Given the description of an element on the screen output the (x, y) to click on. 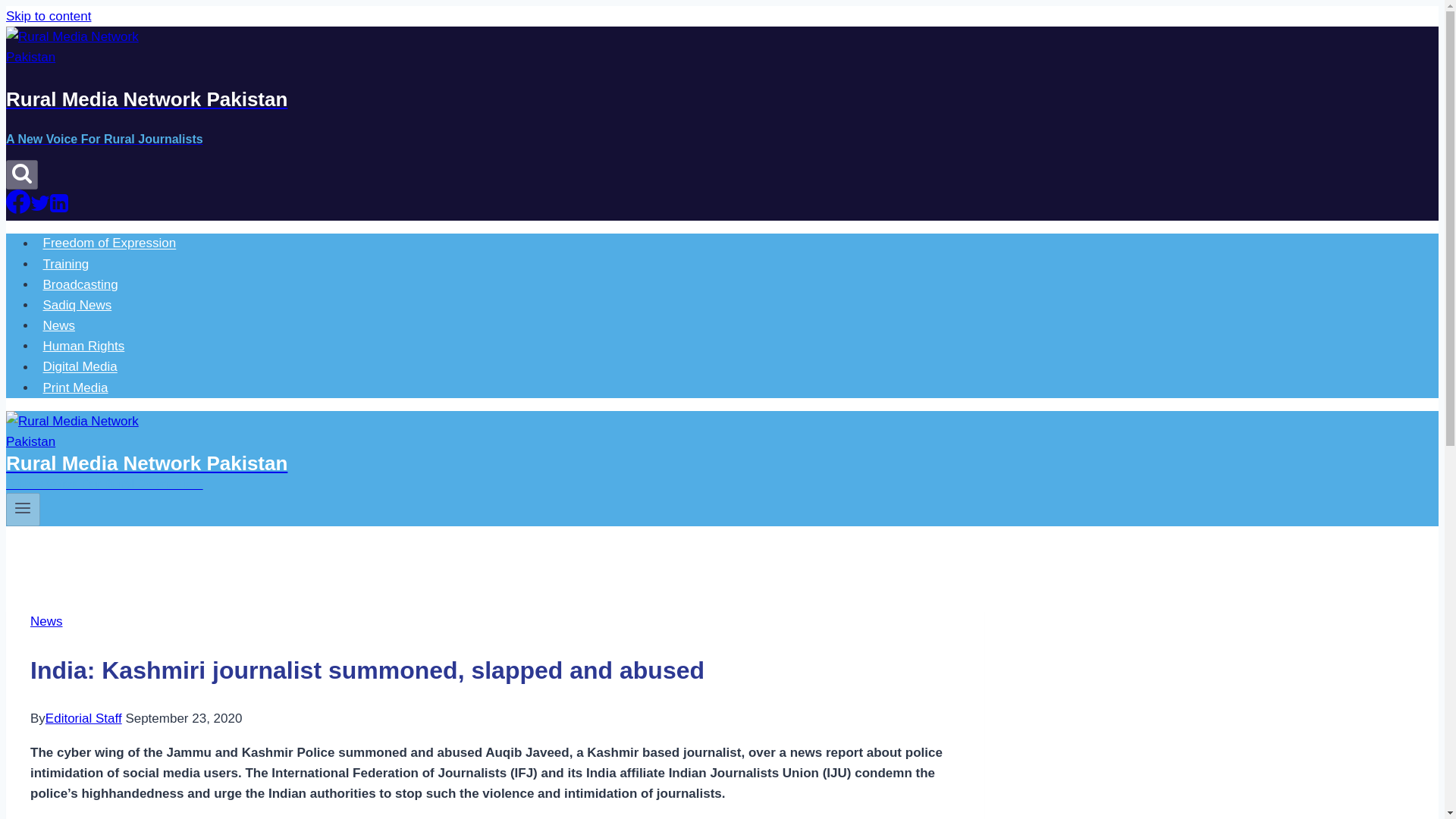
Human Rights (83, 346)
Twitter (39, 209)
Linkedin (58, 209)
Search (21, 174)
Freedom of Expression (109, 242)
Sadiq News (76, 305)
Toggle Menu (22, 509)
Training (66, 264)
Broadcasting (79, 284)
Editorial Staff (83, 718)
Skip to content (47, 16)
Print Media (75, 387)
News (58, 325)
News (46, 621)
